Given the description of an element on the screen output the (x, y) to click on. 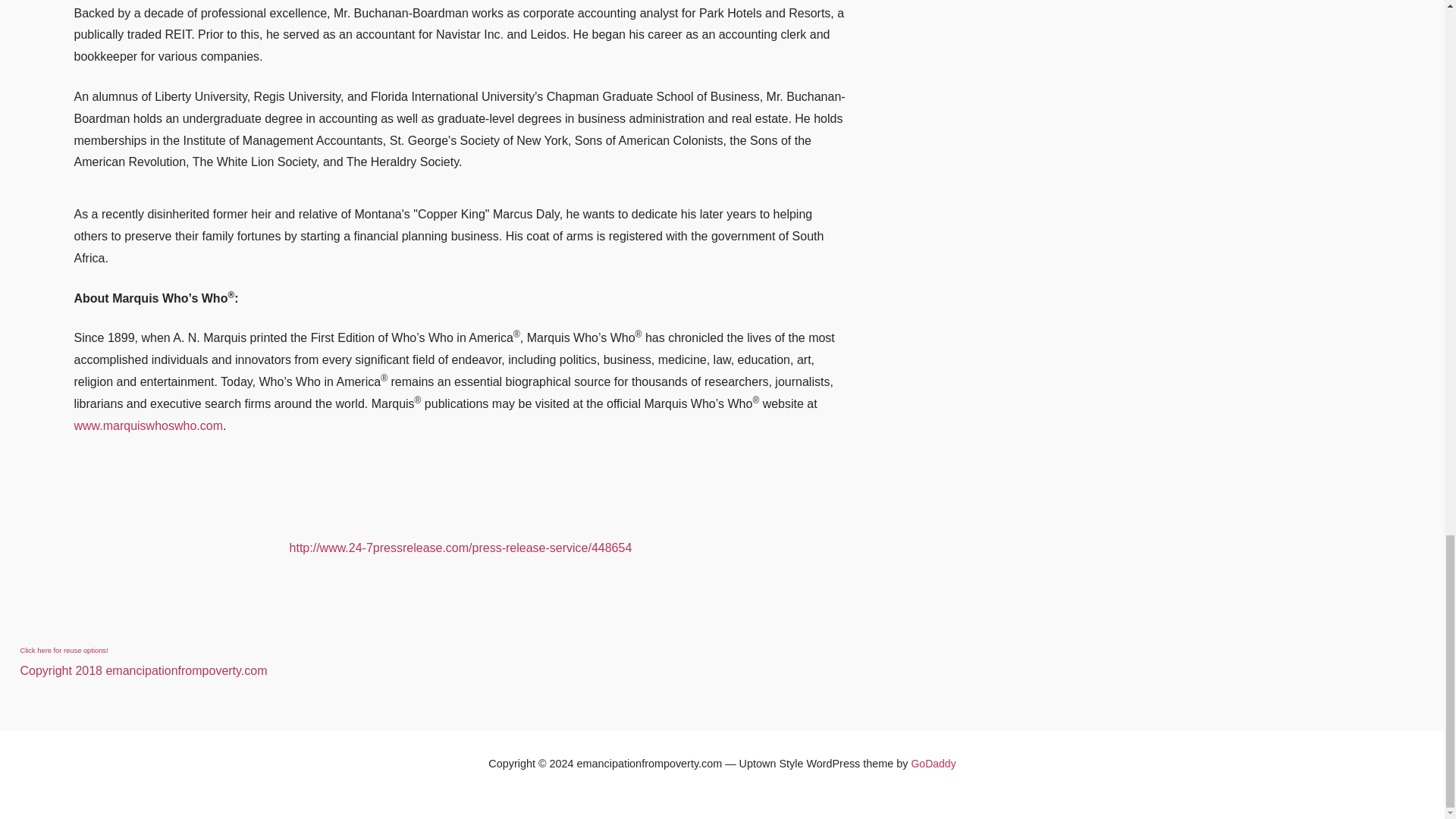
www.marquiswhoswho.com (148, 425)
GoDaddy (933, 763)
